Given the description of an element on the screen output the (x, y) to click on. 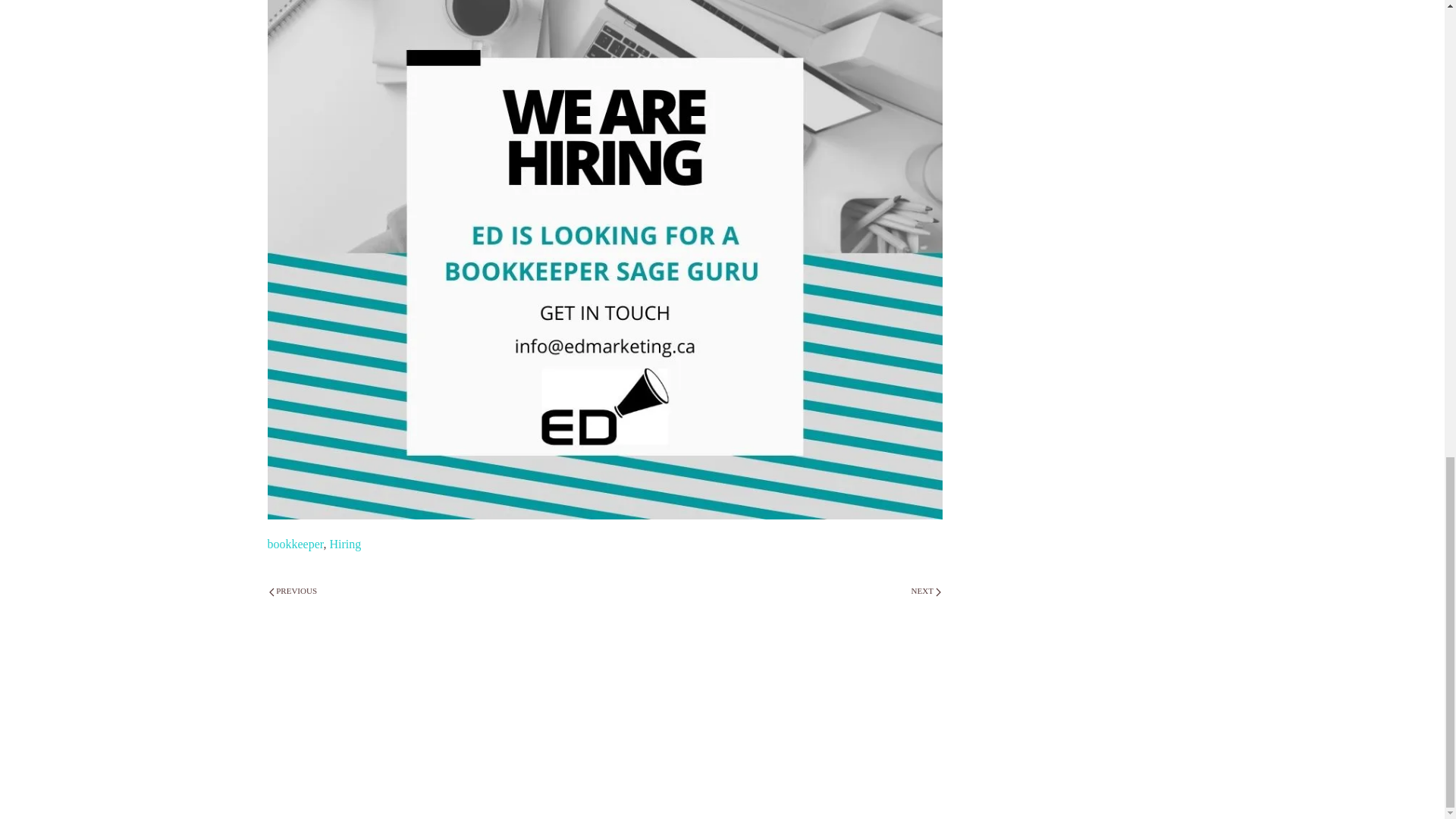
Hiring (345, 543)
PREVIOUS (292, 591)
bookkeeper (294, 543)
NEXT (926, 591)
